Given the description of an element on the screen output the (x, y) to click on. 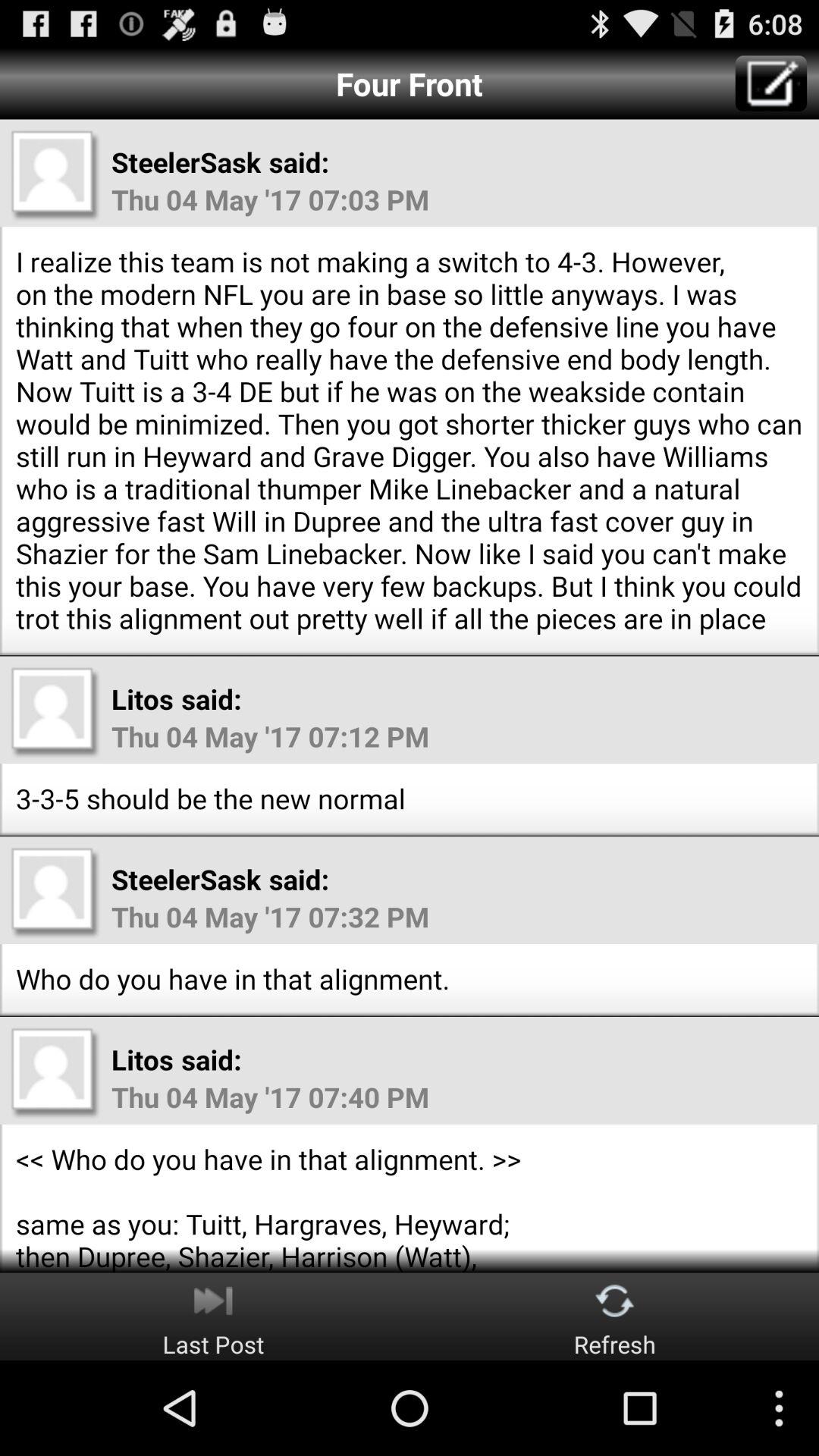
search profile (55, 1072)
